Given the description of an element on the screen output the (x, y) to click on. 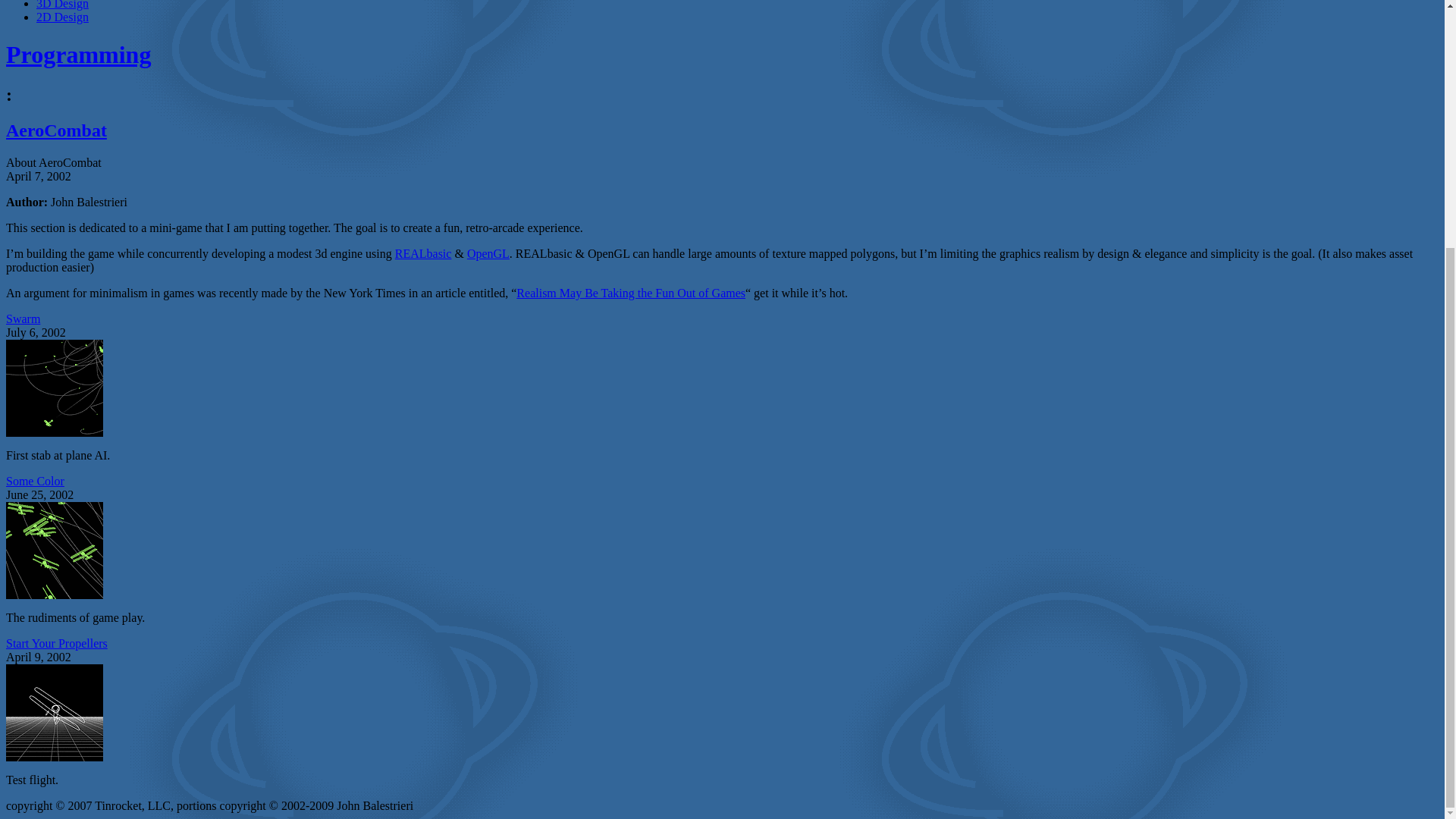
AeroCombat (721, 130)
REALbasic (422, 253)
Swarm (22, 318)
Programming (721, 54)
OpenGL (488, 253)
2D Design (62, 16)
Some Color (34, 481)
3D Design (62, 4)
Realism May Be Taking the Fun Out of Games (630, 292)
Start Your Propellers (56, 643)
